Given the description of an element on the screen output the (x, y) to click on. 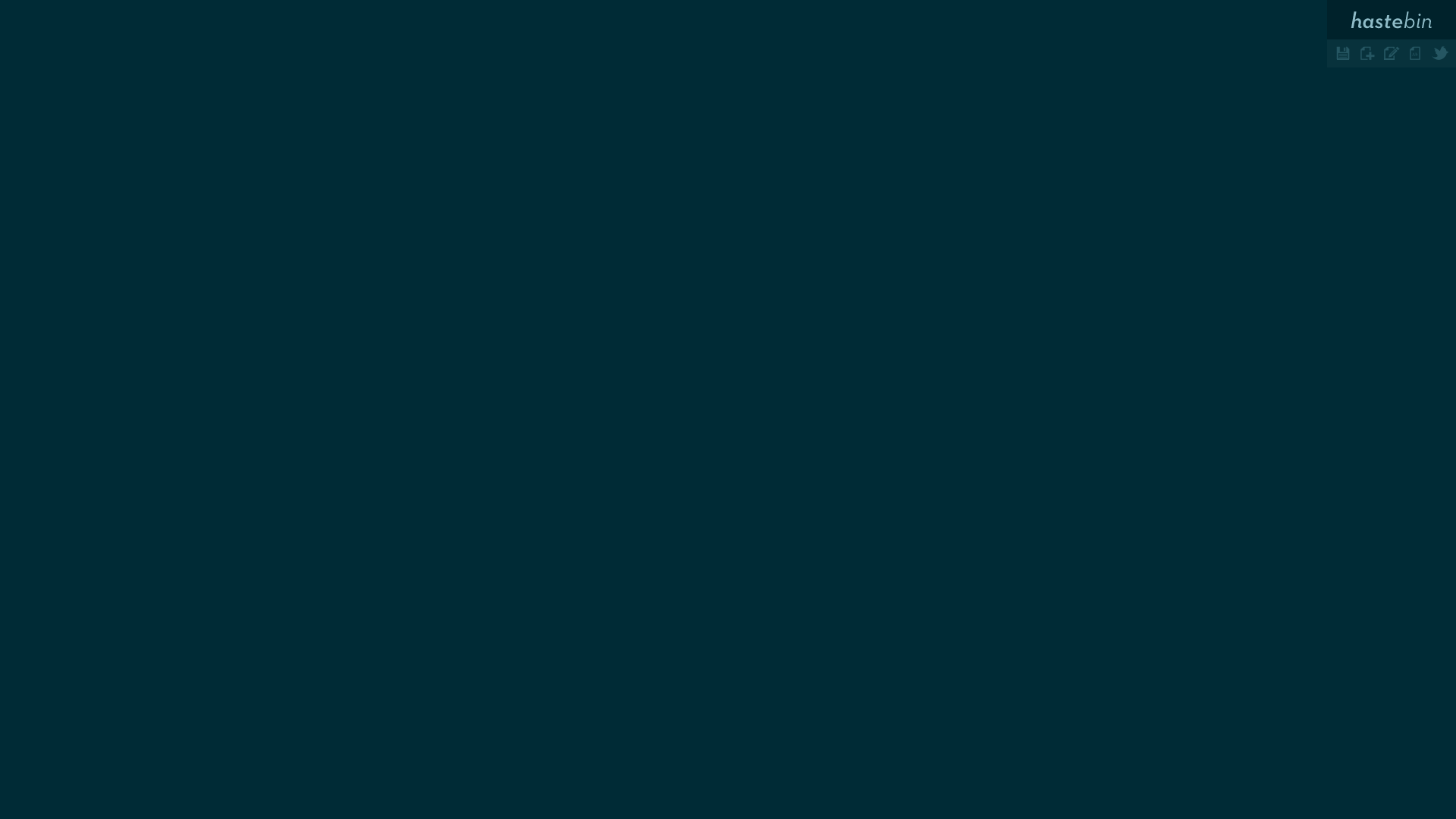
New Element type: text (1367, 53)
Twitter Element type: text (1439, 53)
Save Element type: text (1342, 53)
Duplicate & Edit Element type: text (1391, 53)
Just Text Element type: text (1415, 53)
